Given the description of an element on the screen output the (x, y) to click on. 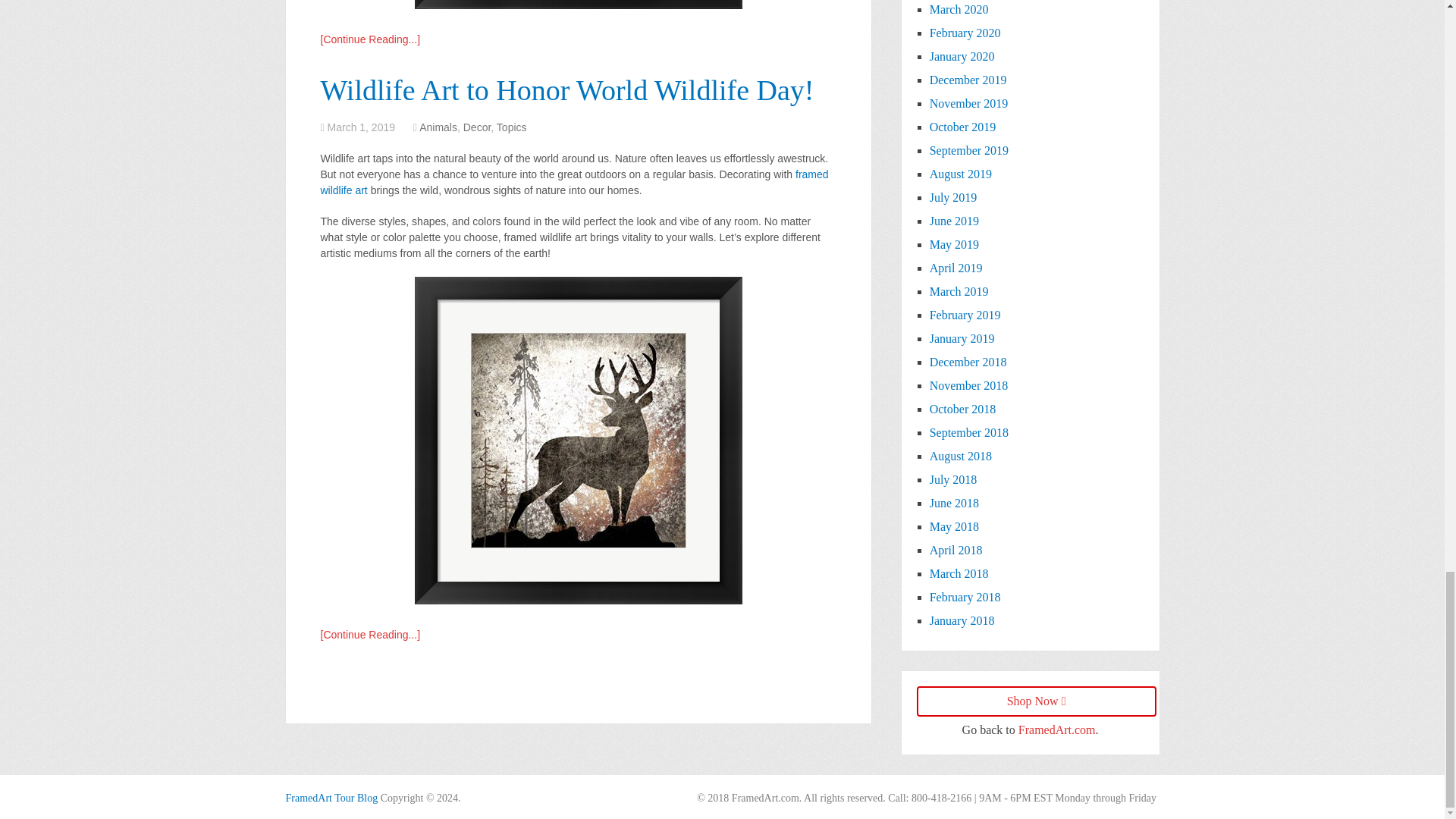
Topics (511, 127)
View all posts in Animals (438, 127)
Animals (438, 127)
Decor (477, 127)
View all posts in Decor (477, 127)
View all posts in Topics (511, 127)
Wildlife Art to Honor World Wildlife Day! (566, 90)
Behind the Frame: Female Artists (370, 39)
Wildlife Art to Honor World Wildlife Day! (566, 90)
 The Insider's Guide to the FramedArt.com Galleries (331, 797)
